Given the description of an element on the screen output the (x, y) to click on. 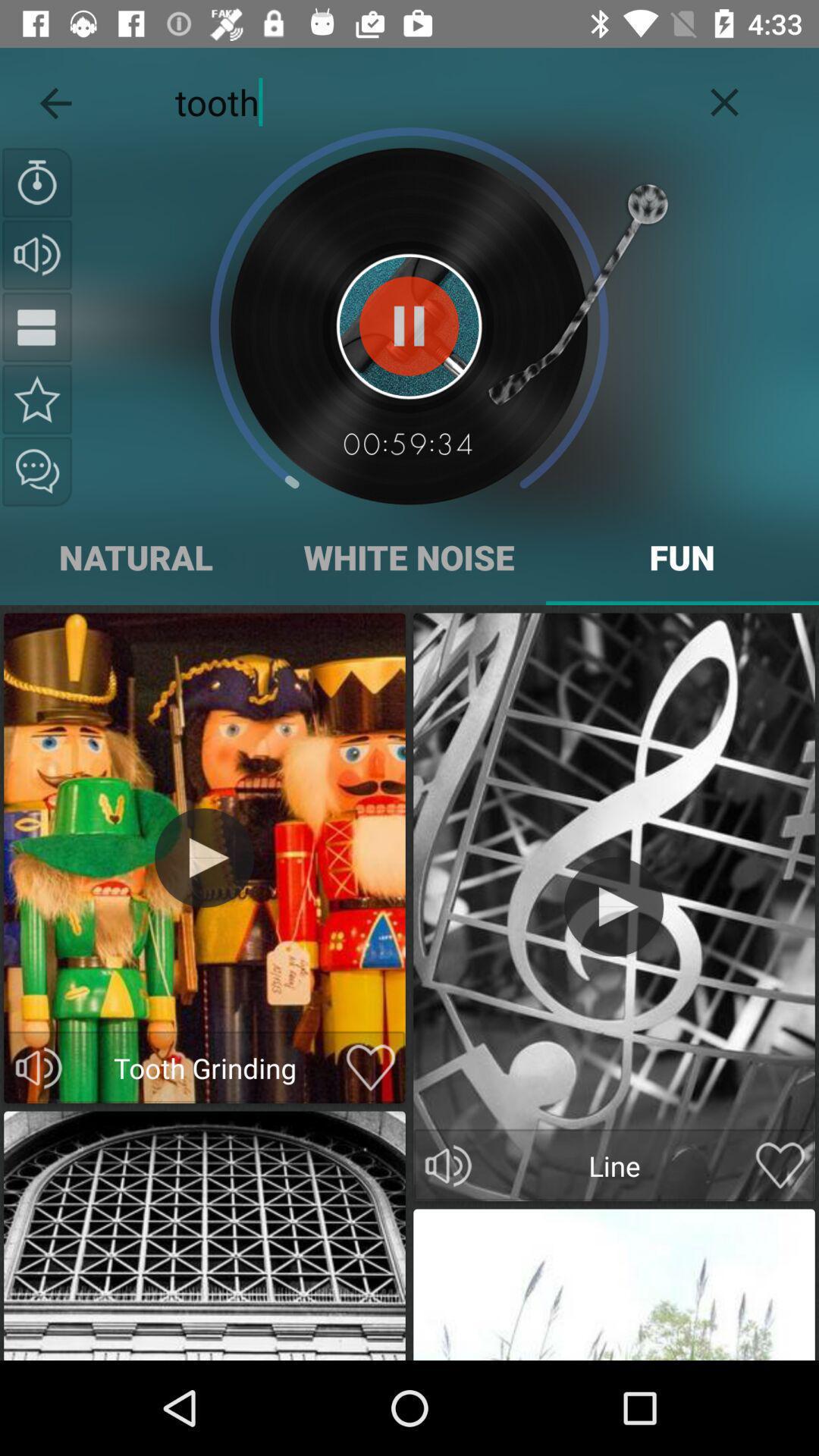
its a stopwatch that measures time (37, 182)
